Given the description of an element on the screen output the (x, y) to click on. 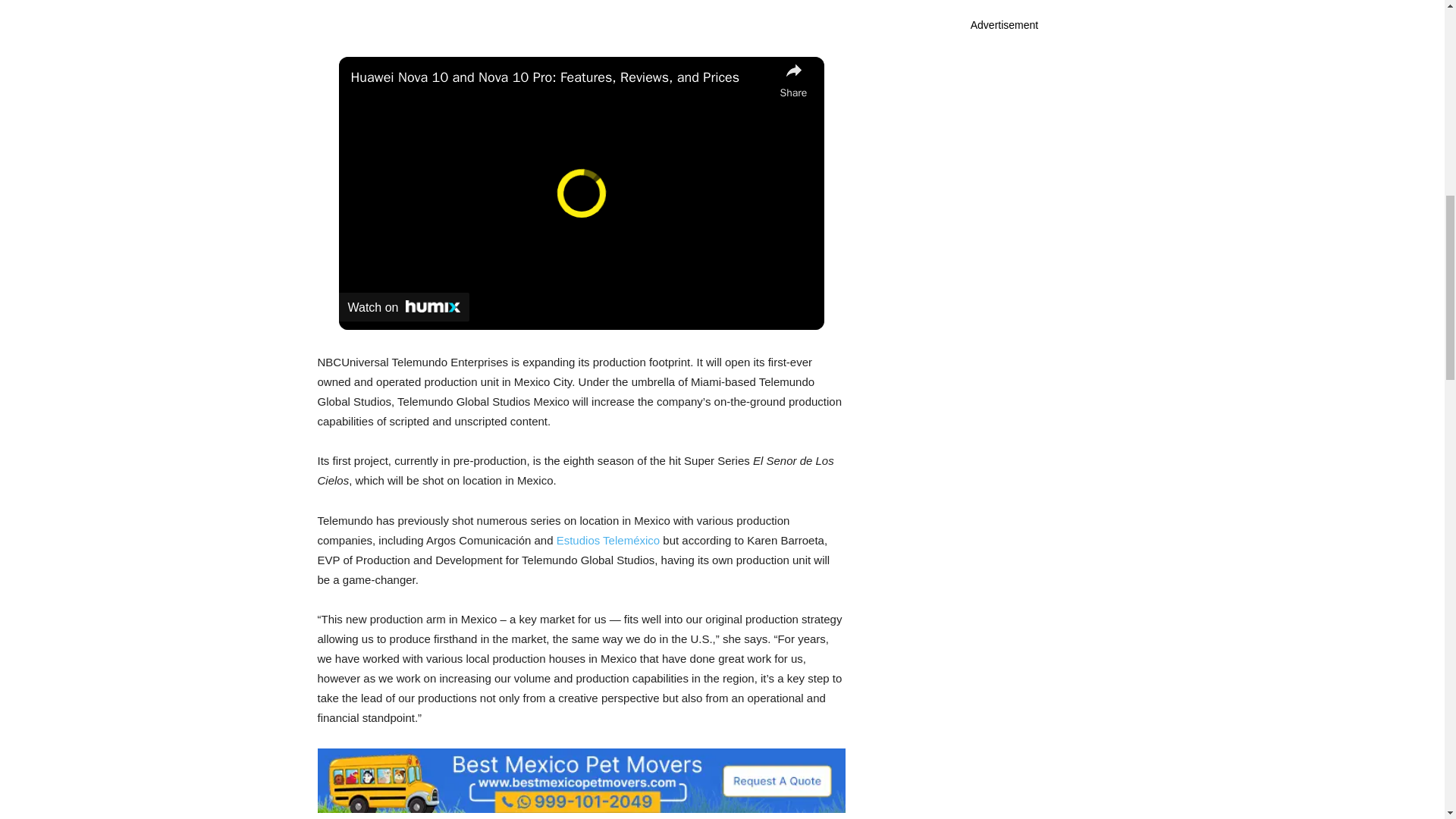
Watch on (402, 306)
Share (792, 79)
